Given the description of an element on the screen output the (x, y) to click on. 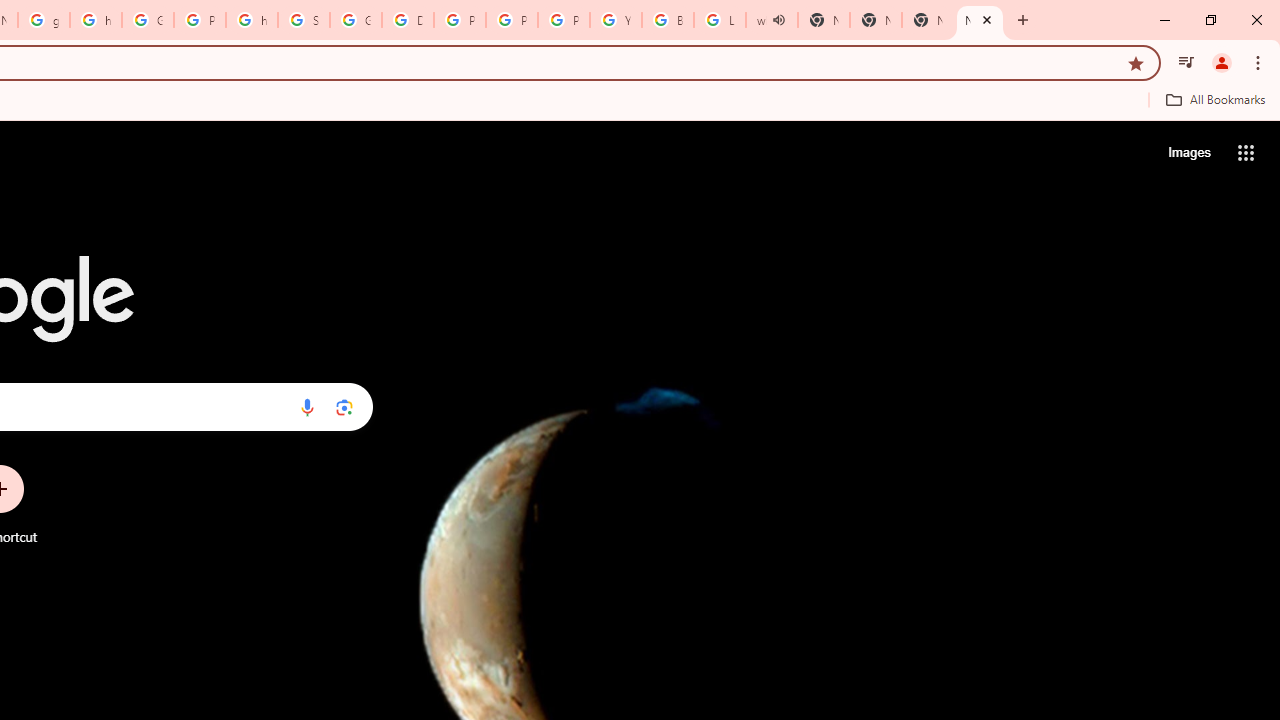
https://scholar.google.com/ (251, 20)
Privacy Help Center - Policies Help (511, 20)
Sign in - Google Accounts (303, 20)
https://scholar.google.com/ (95, 20)
